Given the description of an element on the screen output the (x, y) to click on. 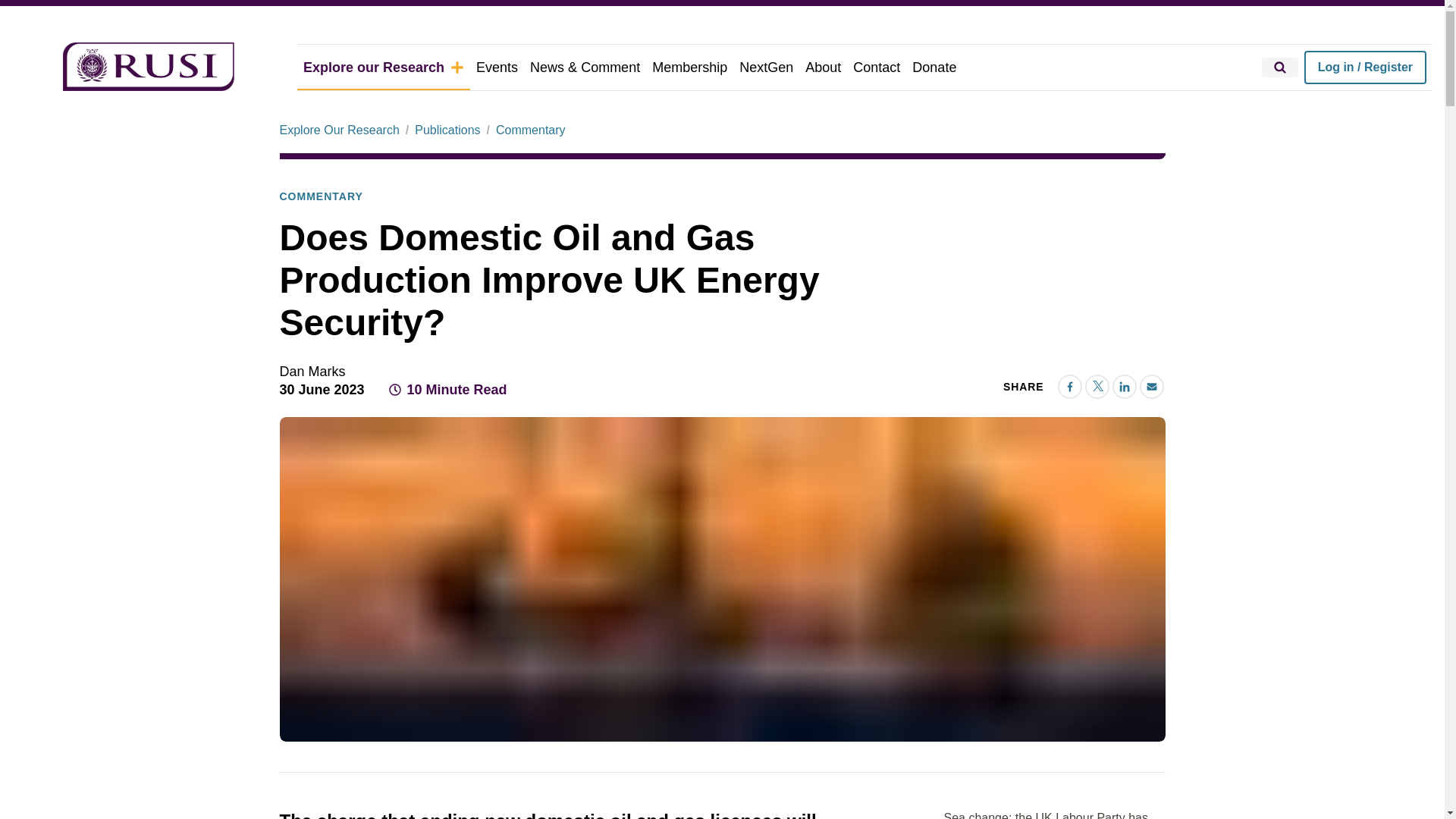
Explore our Research (383, 67)
Search RUSI (1280, 66)
Events (497, 67)
Contact (876, 67)
About (823, 67)
Membership (689, 67)
Log in (1365, 67)
NextGen (766, 67)
COMMENTARY (320, 196)
Donate (933, 67)
